Given the description of an element on the screen output the (x, y) to click on. 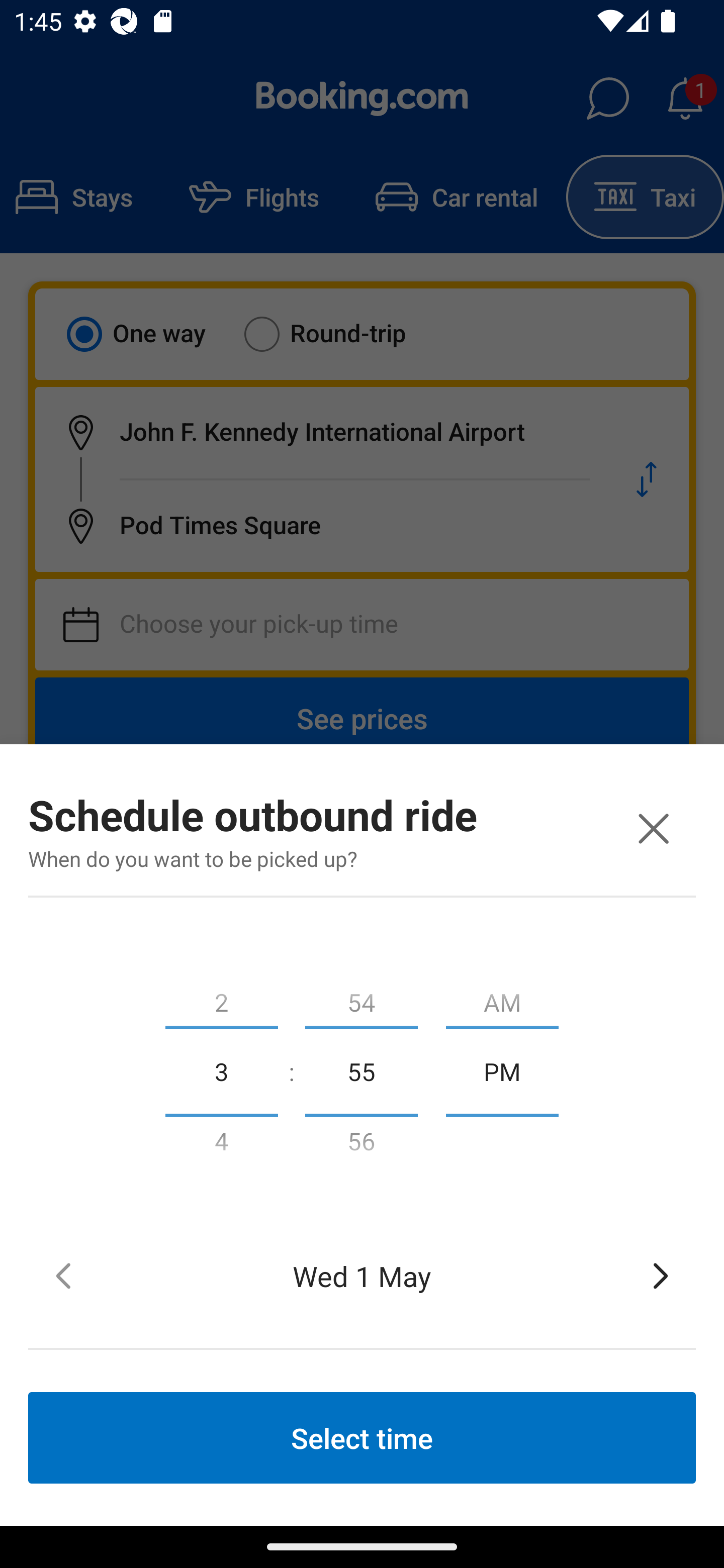
Close window (653, 828)
2 (221, 997)
54 (361, 997)
AM (501, 997)
3 (221, 1070)
55 (361, 1070)
PM (501, 1070)
4 (221, 1144)
56 (361, 1144)
Tap to move back to the previous date (63, 1275)
Tap to move forward to the next date (660, 1275)
Wed 1 May Selected date, Wednesday, 1 May (361, 1275)
Select time (361, 1437)
